Given the description of an element on the screen output the (x, y) to click on. 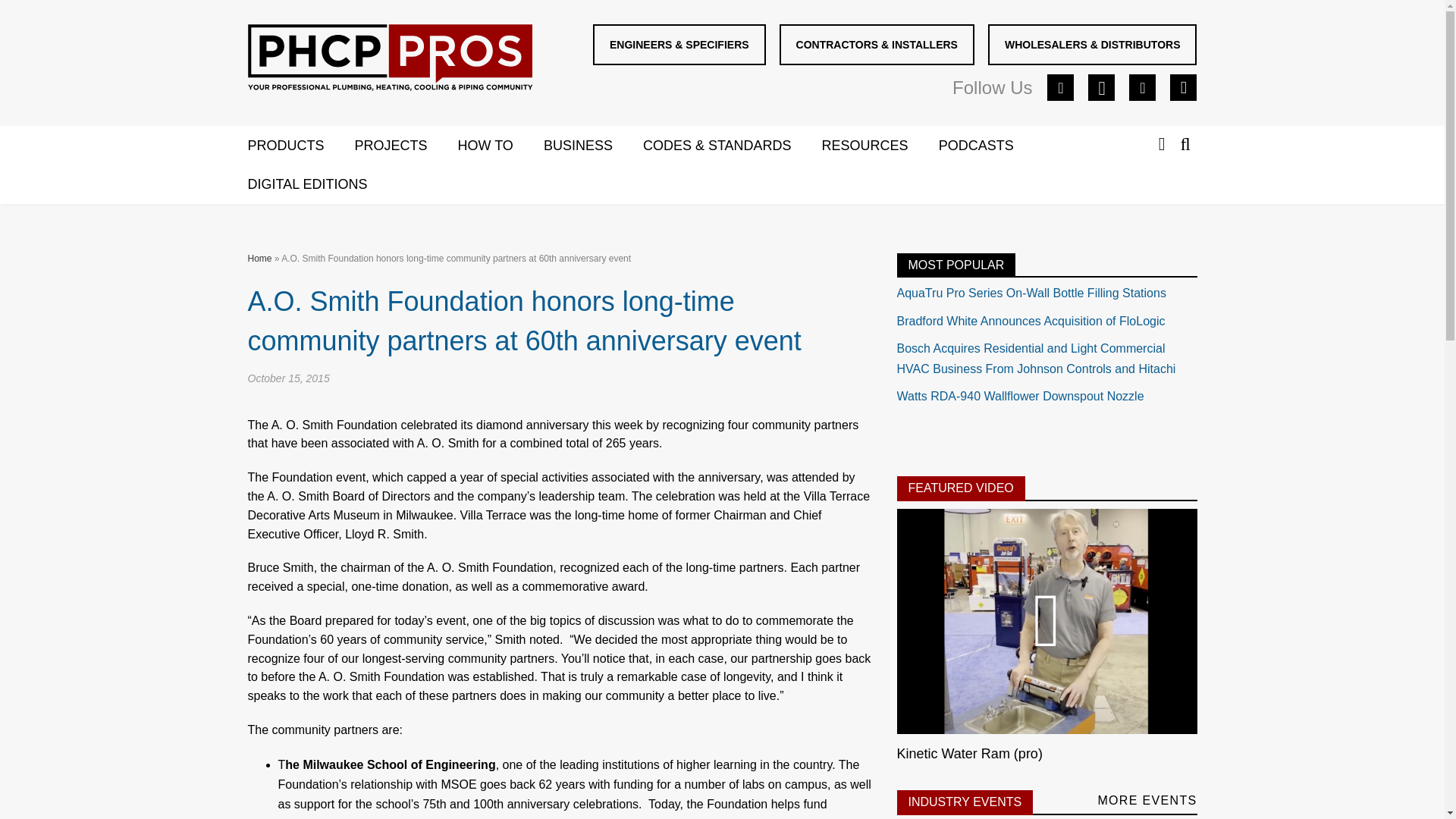
logo (389, 60)
HOW TO (500, 146)
logo (389, 57)
PRODUCTS (300, 146)
BUSINESS (593, 146)
PROJECTS (406, 146)
